Given the description of an element on the screen output the (x, y) to click on. 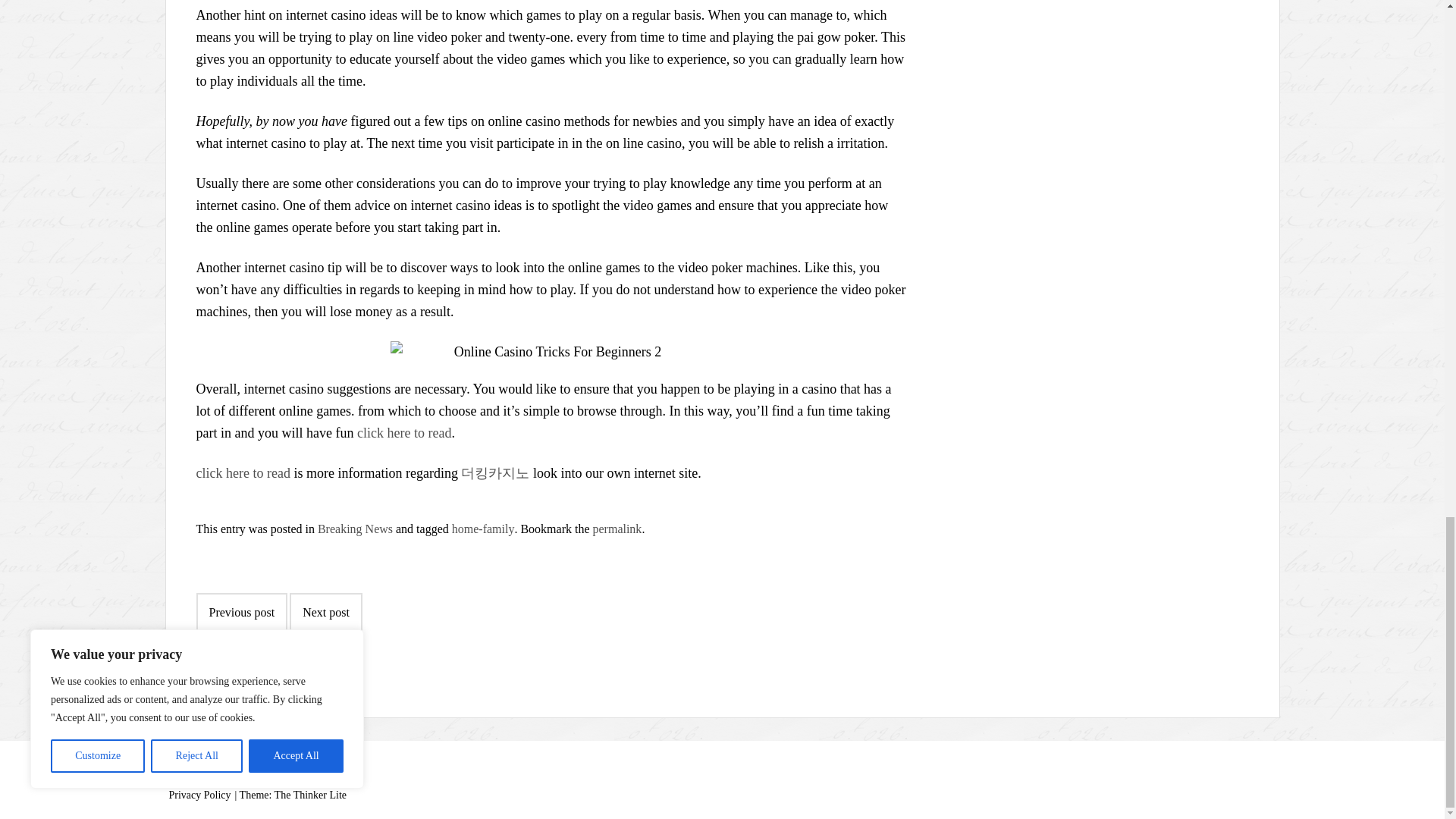
click here to read (242, 473)
Previous post (240, 612)
Breaking News (355, 528)
home-family (483, 528)
click here to read (403, 432)
Next post (325, 612)
permalink (617, 528)
